Given the description of an element on the screen output the (x, y) to click on. 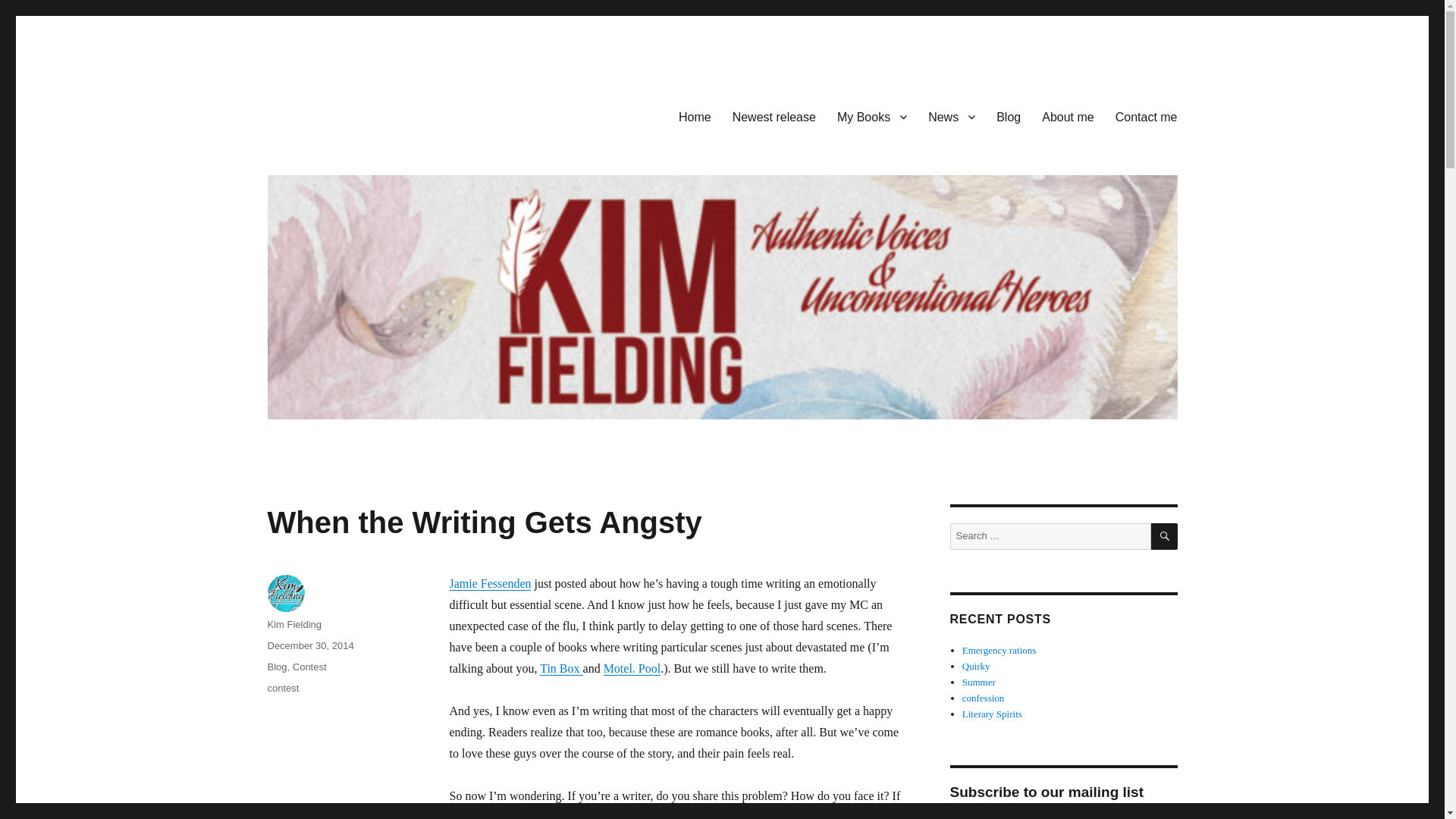
About me (1066, 116)
Jamie Fessenden (489, 583)
Motel. Pool (632, 667)
Contact me (1146, 116)
News (951, 116)
Contest (309, 666)
Blog (1007, 116)
Newest release (774, 116)
Kim Fielding (293, 624)
Blog (276, 666)
Tin Box (561, 667)
contest (282, 687)
Kim Fielding Writes (365, 114)
My Books (872, 116)
Home (695, 116)
